Given the description of an element on the screen output the (x, y) to click on. 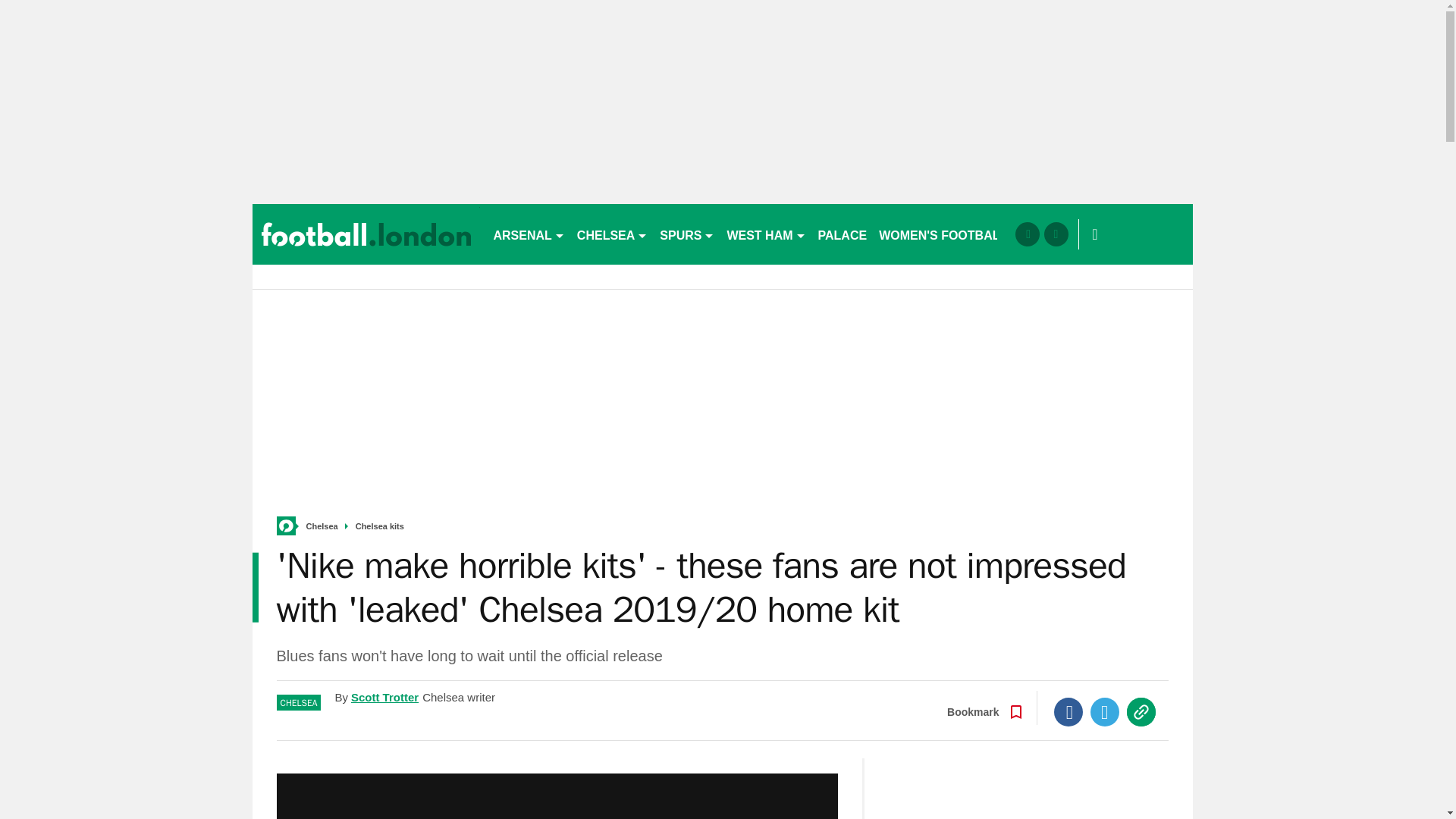
SPURS (686, 233)
PALACE (842, 233)
WOMEN'S FOOTBALL (942, 233)
WEST HAM (765, 233)
Facebook (1068, 711)
ARSENAL (528, 233)
footballlondon (365, 233)
Twitter (1104, 711)
CHELSEA (611, 233)
twitter (1055, 233)
